Given the description of an element on the screen output the (x, y) to click on. 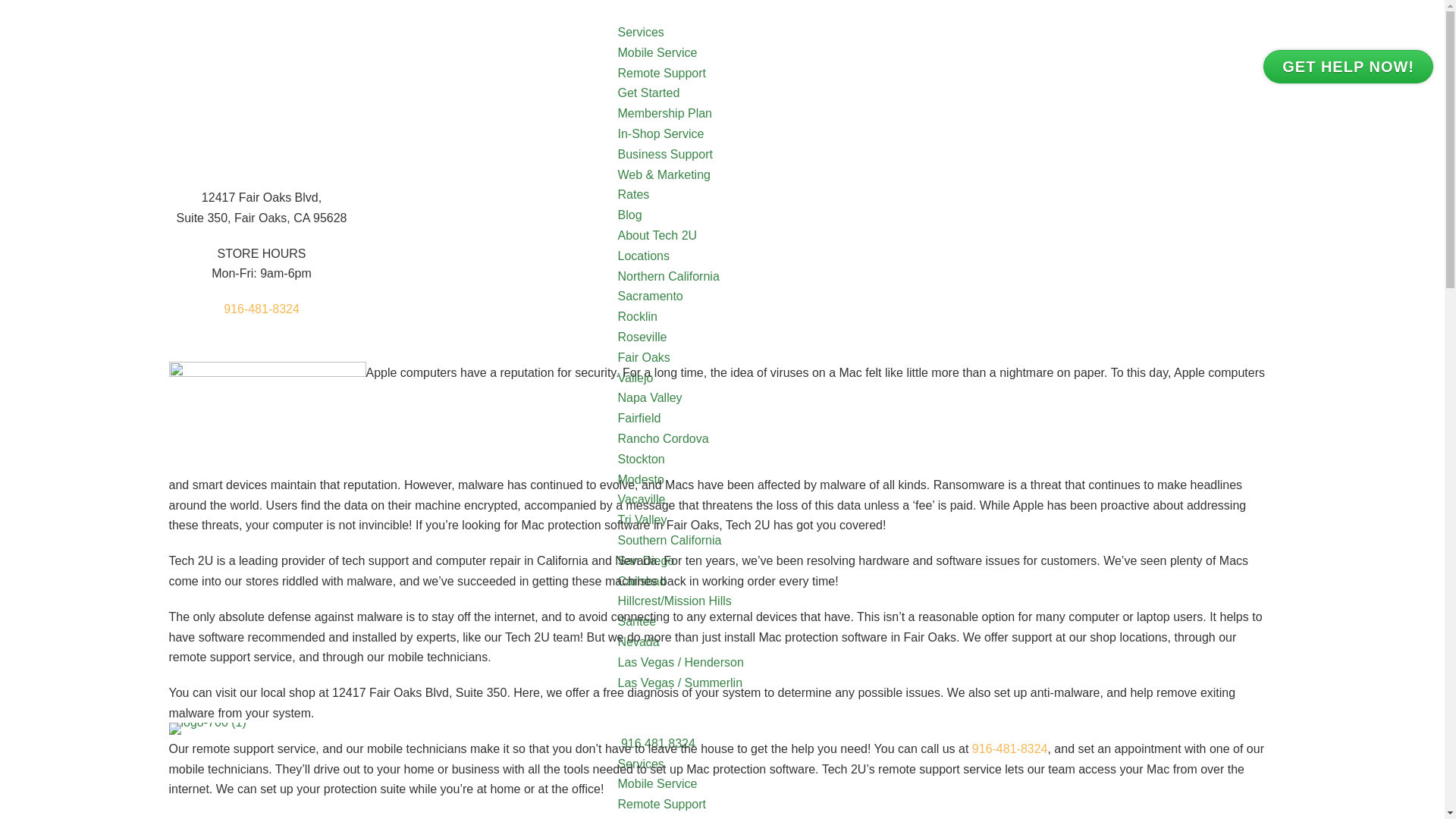
Blog (629, 214)
Fair Oaks (643, 357)
Get Started (648, 92)
Vacaville (641, 499)
Mobile Service (657, 783)
Locations (643, 255)
Mobile Service (657, 51)
San Diego (645, 560)
Modesto (640, 479)
